Given the description of an element on the screen output the (x, y) to click on. 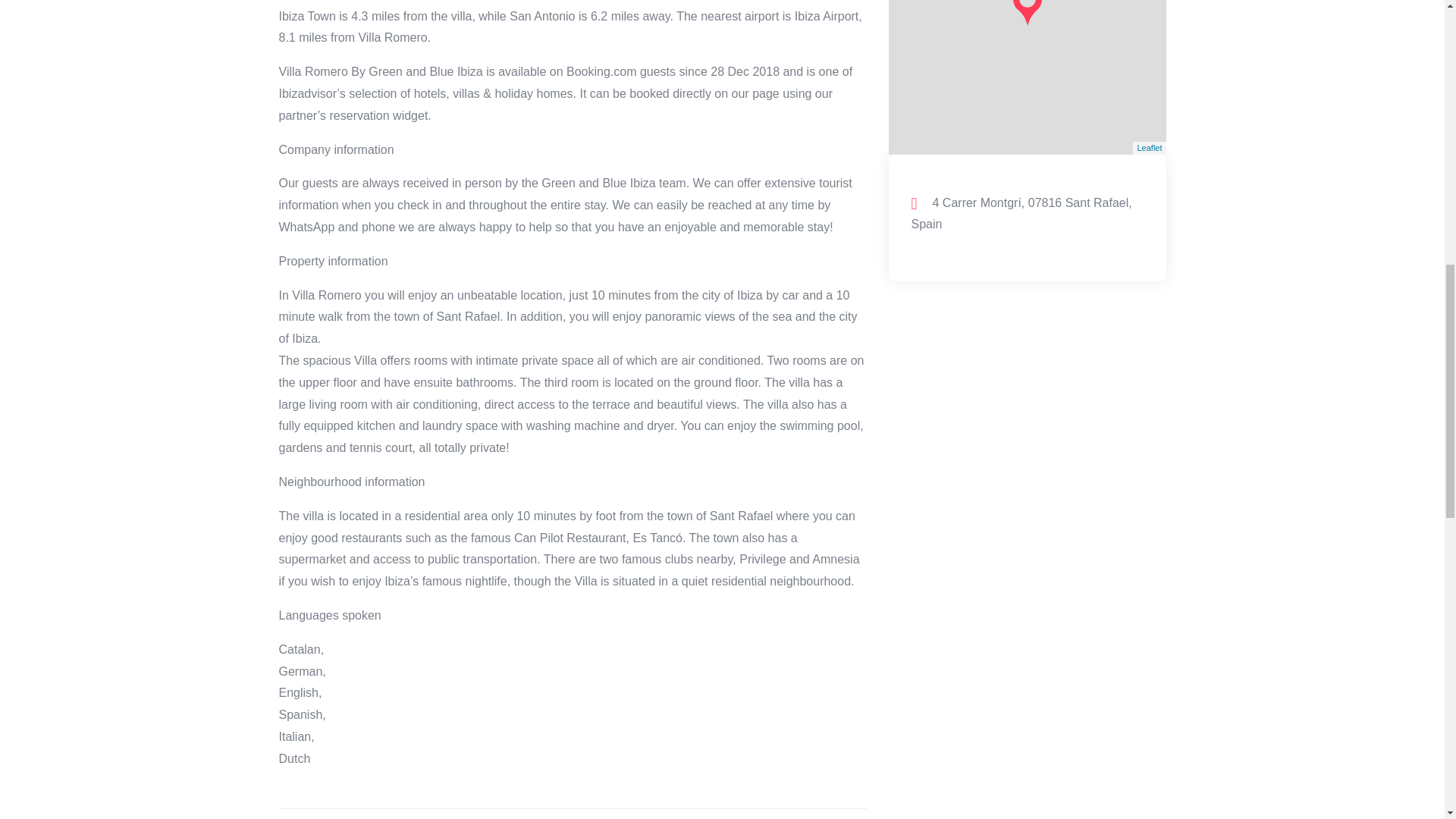
A JS library for interactive maps (1149, 147)
